Given the description of an element on the screen output the (x, y) to click on. 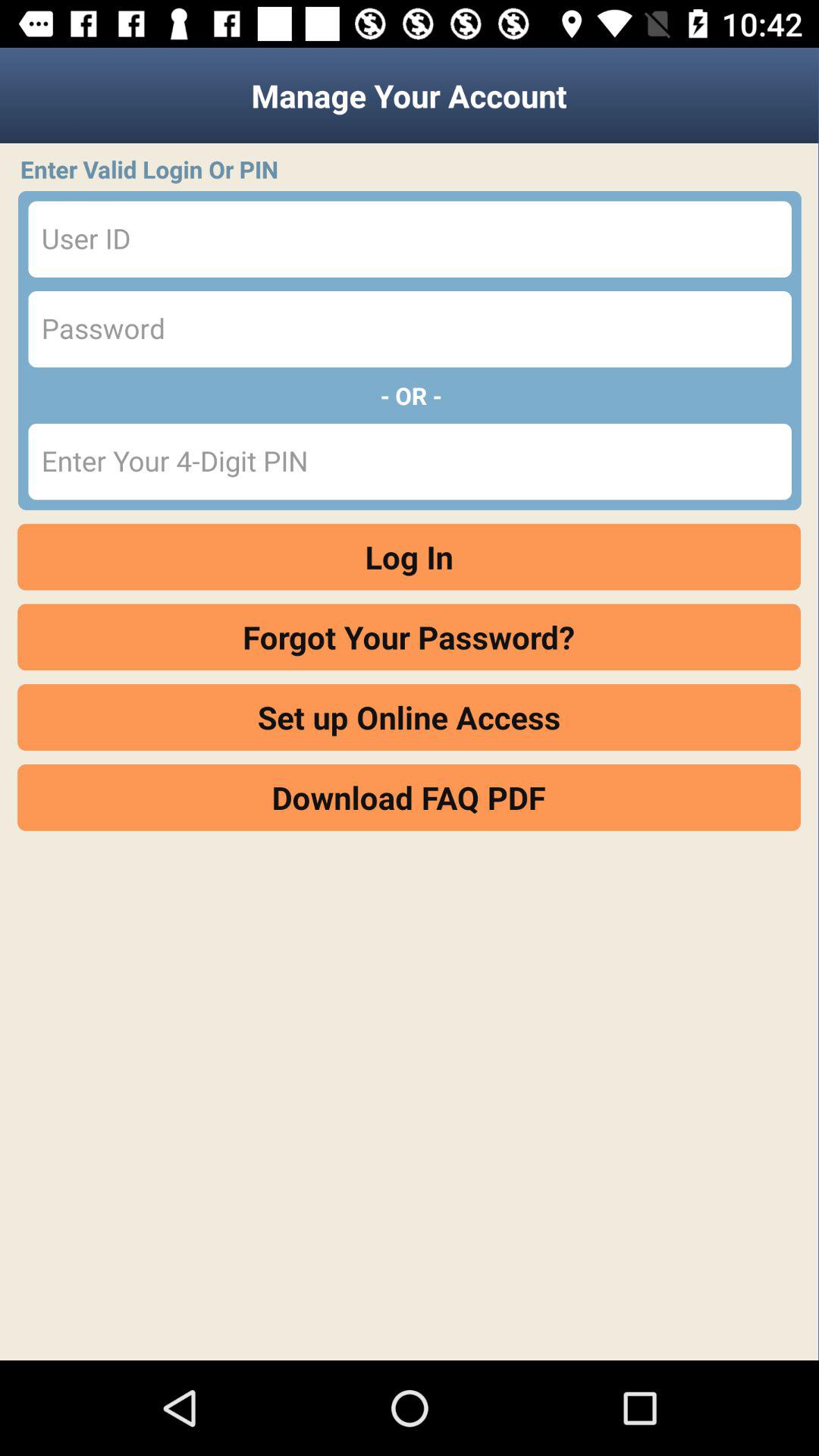
jump to log in item (408, 557)
